Given the description of an element on the screen output the (x, y) to click on. 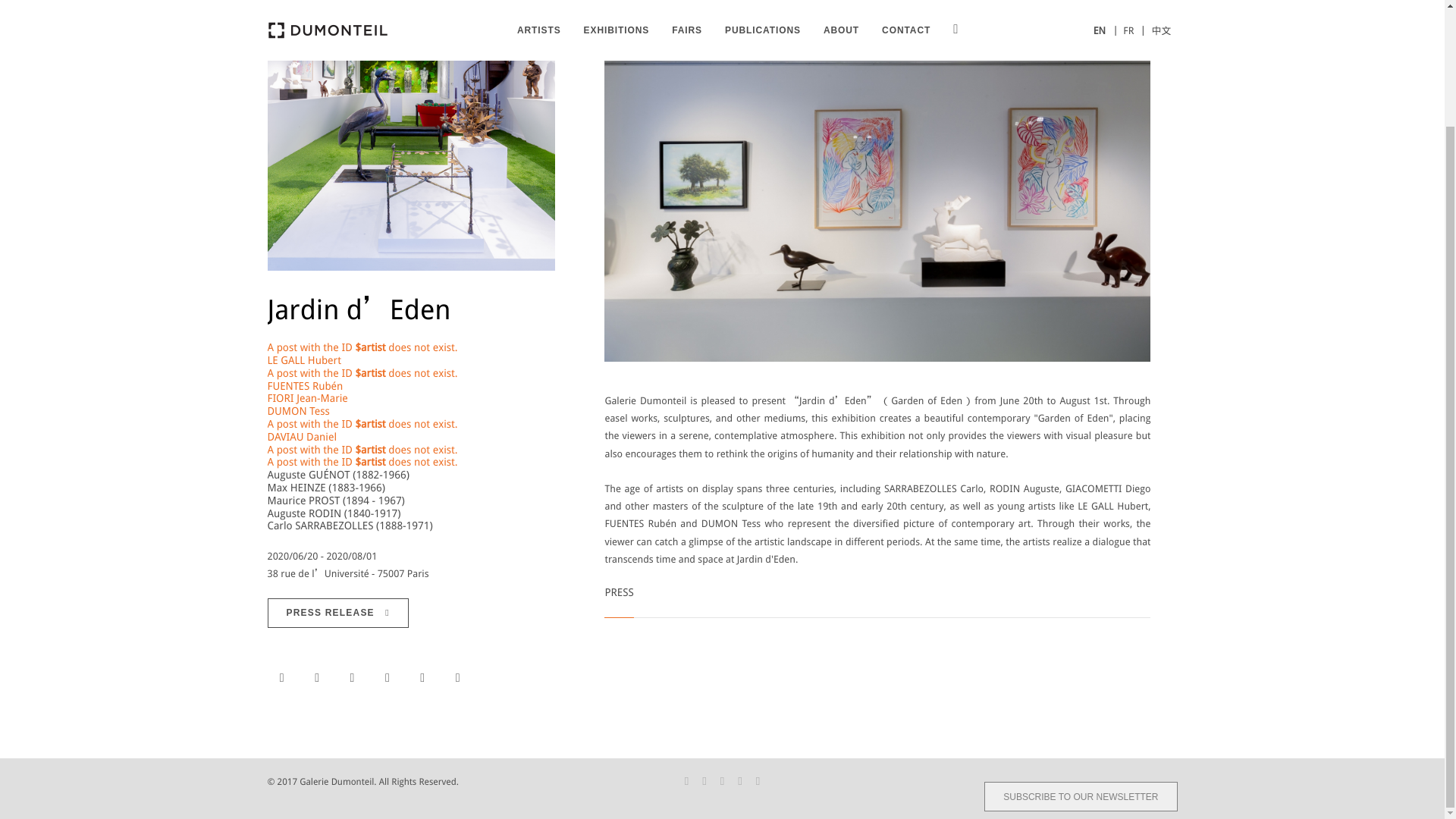
LE GALL Hubert (303, 359)
DAVIAU Daniel (301, 436)
FIORI Jean-Marie (306, 398)
DUMON Tess (297, 410)
PRESS RELEASE (336, 613)
